Given the description of an element on the screen output the (x, y) to click on. 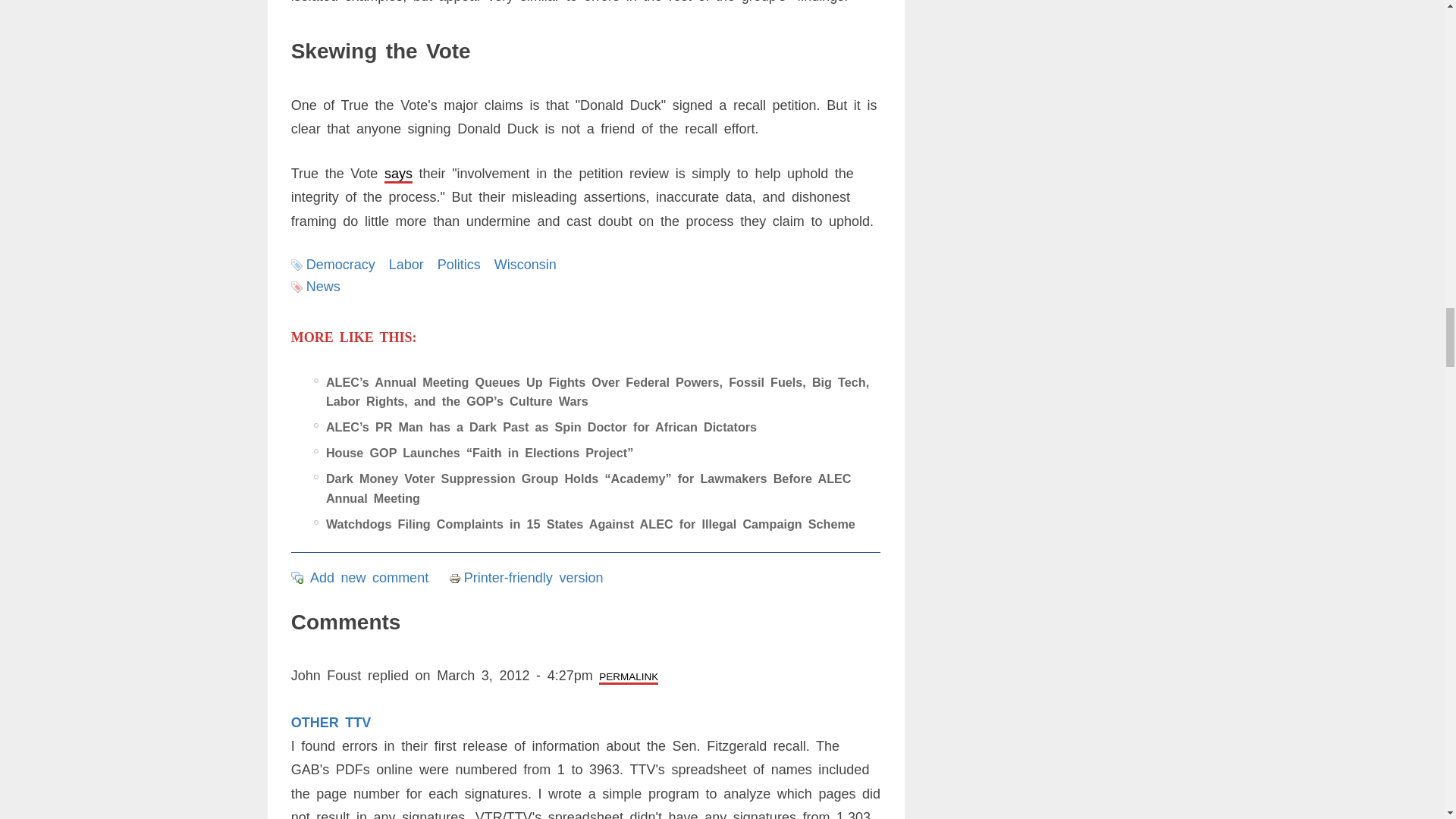
Share your thoughts and opinions related to this posting. (369, 577)
Printer-friendly version (456, 578)
Display a printer-friendly version of this page. (526, 577)
